Given the description of an element on the screen output the (x, y) to click on. 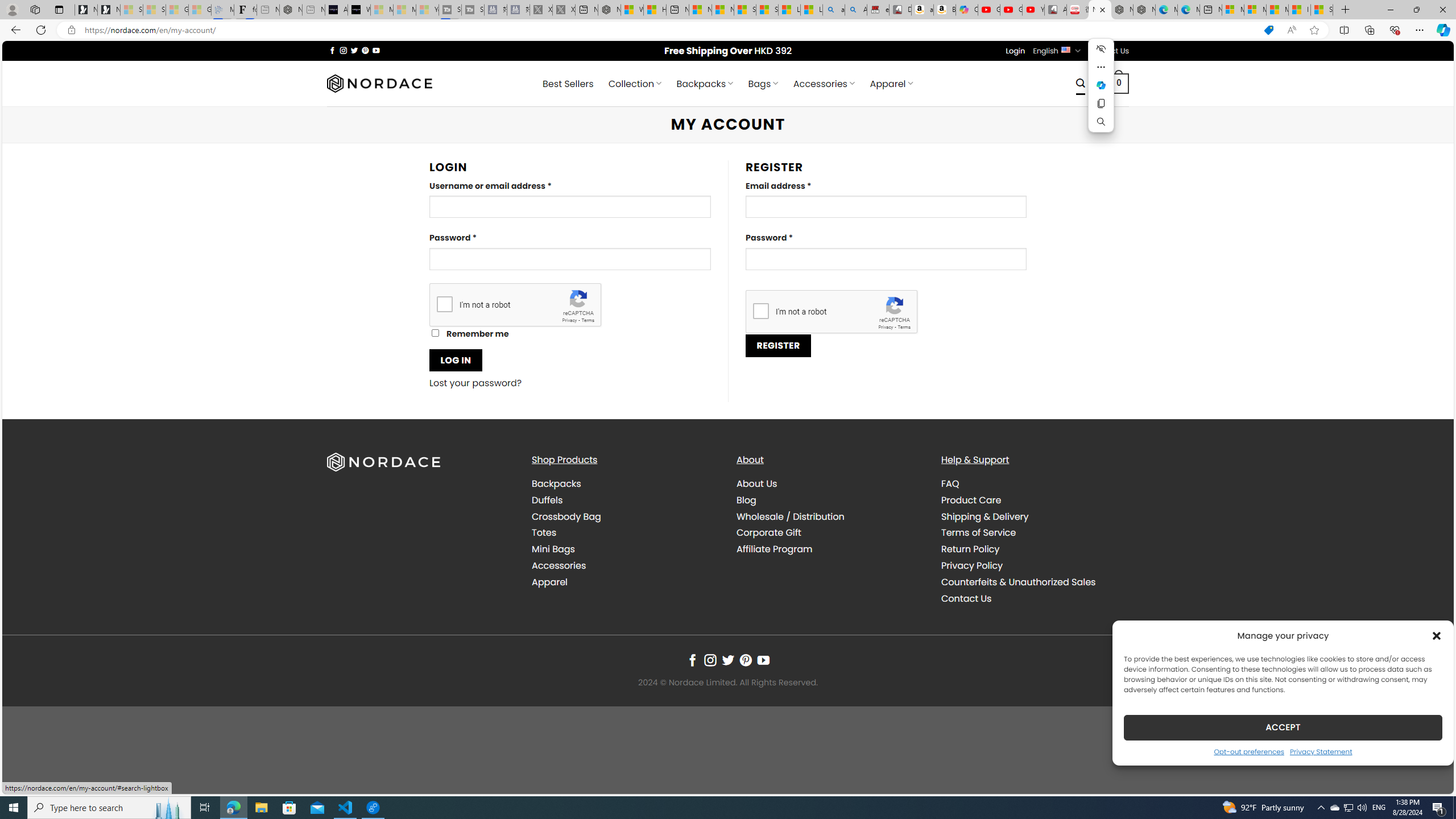
Huge shark washes ashore at New York City beach | Watch (655, 9)
Microsoft Start - Sleeping (404, 9)
Corporate Gift (830, 532)
Privacy (885, 326)
Login (1015, 50)
Wholesale / Distribution (830, 516)
Remember me (434, 333)
Copy (1101, 103)
Copilot (966, 9)
Nordace - #1 Japanese Best-Seller - Siena Smart Backpack (291, 9)
Ask Copilot (1101, 85)
This site has coupons! Shopping in Microsoft Edge (1268, 29)
